Given the description of an element on the screen output the (x, y) to click on. 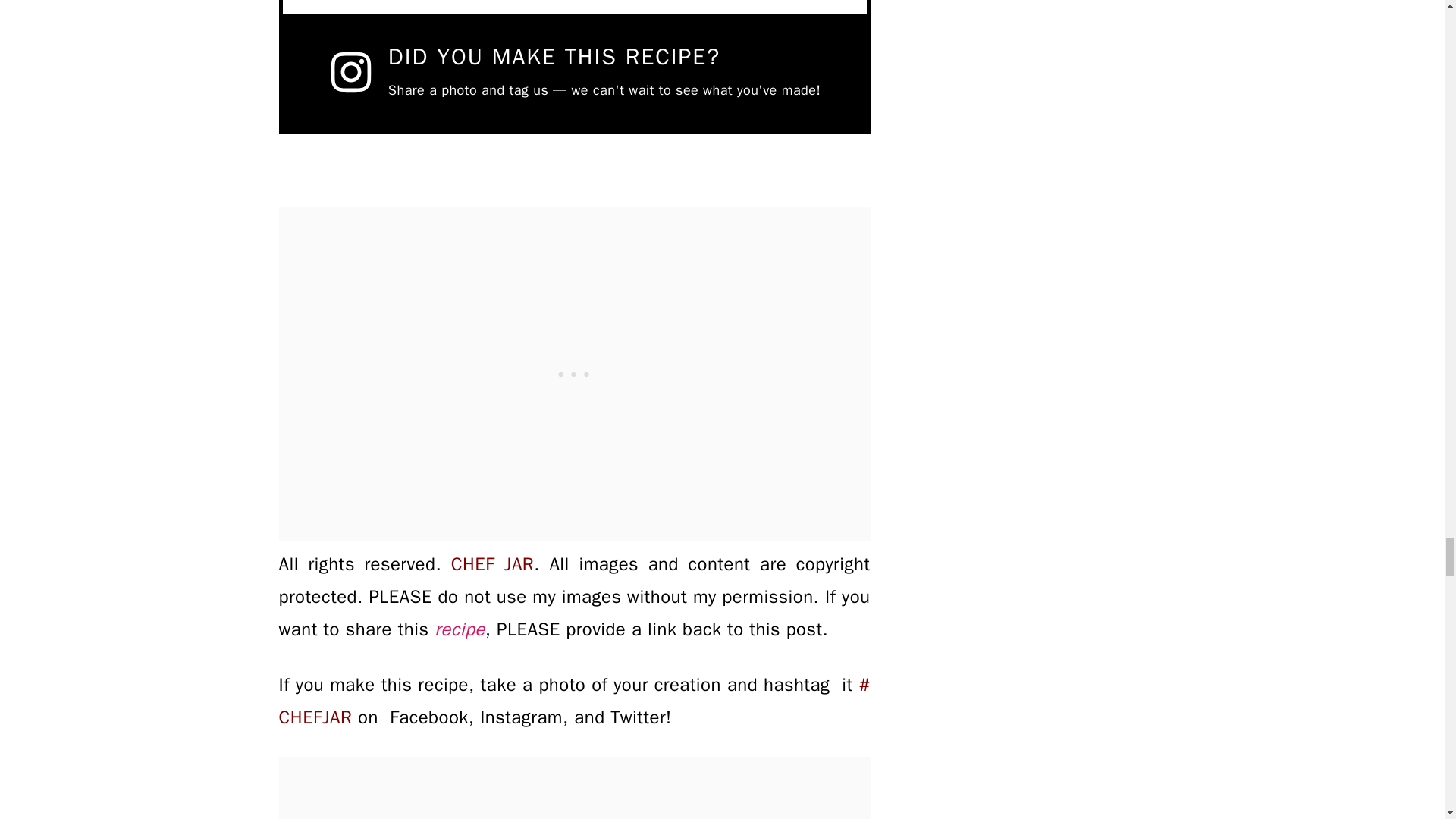
recipe (458, 629)
